Given the description of an element on the screen output the (x, y) to click on. 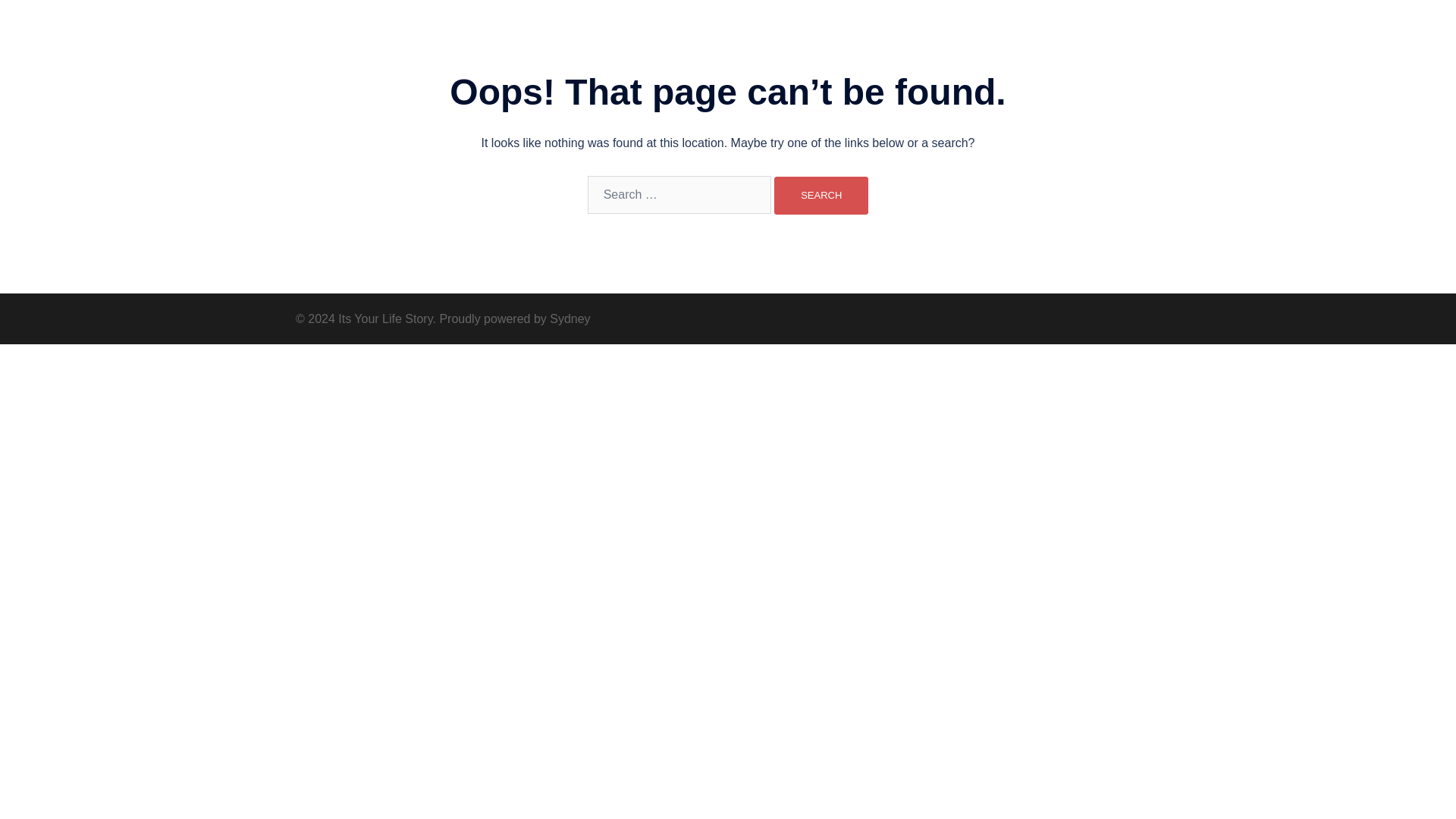
Search (820, 195)
Sydney (569, 318)
Its Your Life Story (398, 29)
Search (820, 195)
Search (820, 195)
